Given the description of an element on the screen output the (x, y) to click on. 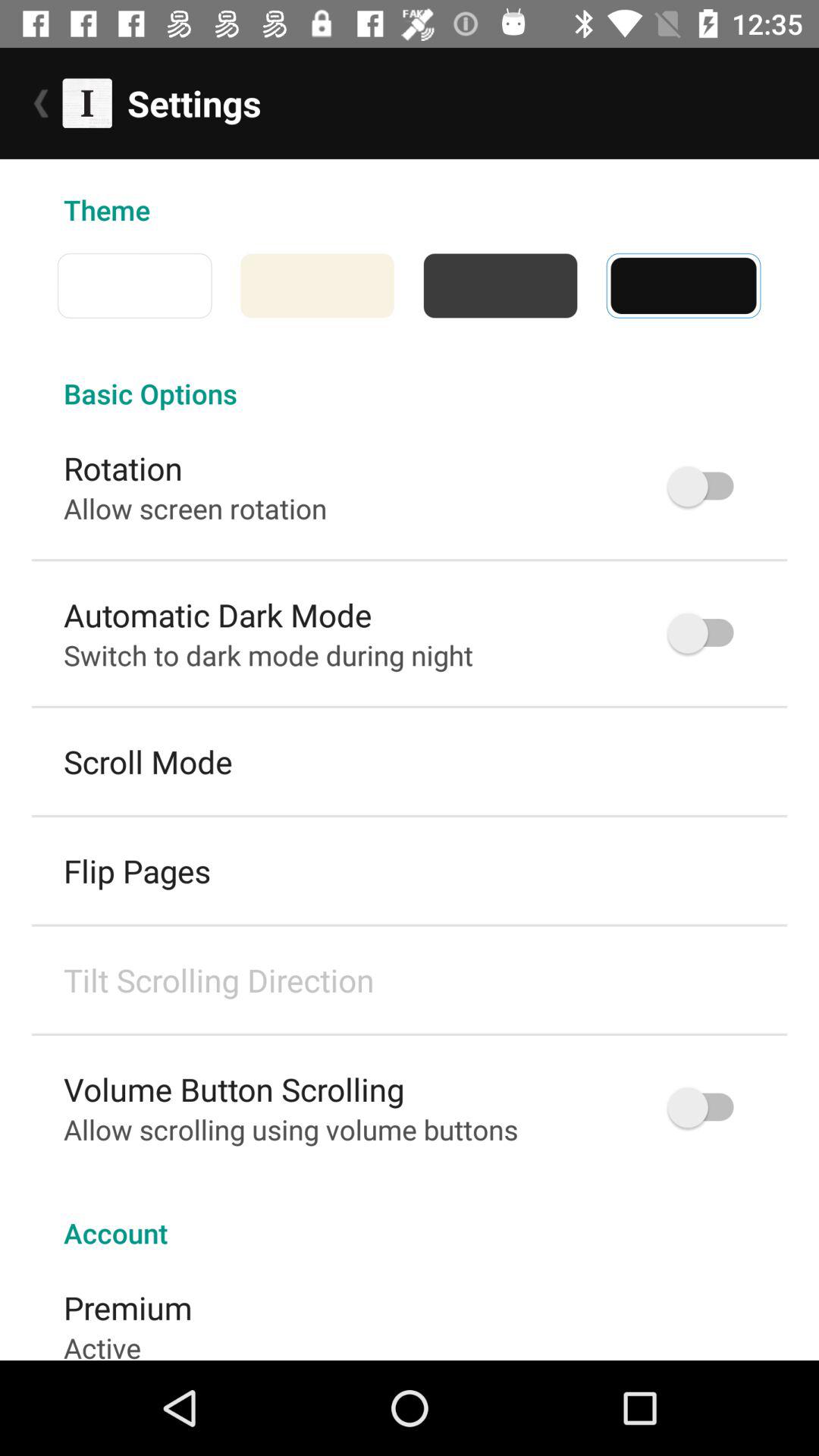
choose the flip pages item (137, 870)
